Given the description of an element on the screen output the (x, y) to click on. 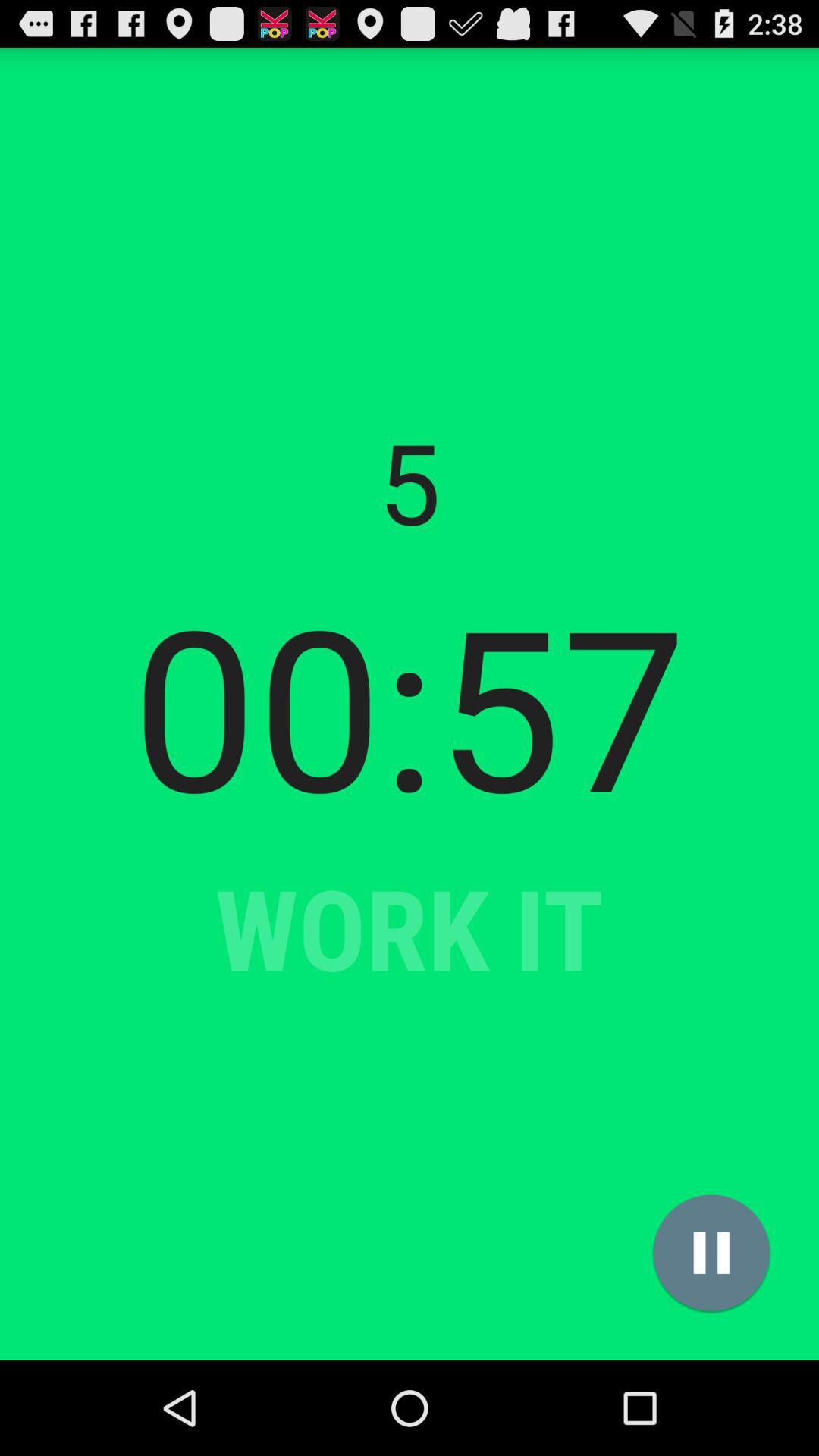
tap item at the bottom right corner (711, 1252)
